Given the description of an element on the screen output the (x, y) to click on. 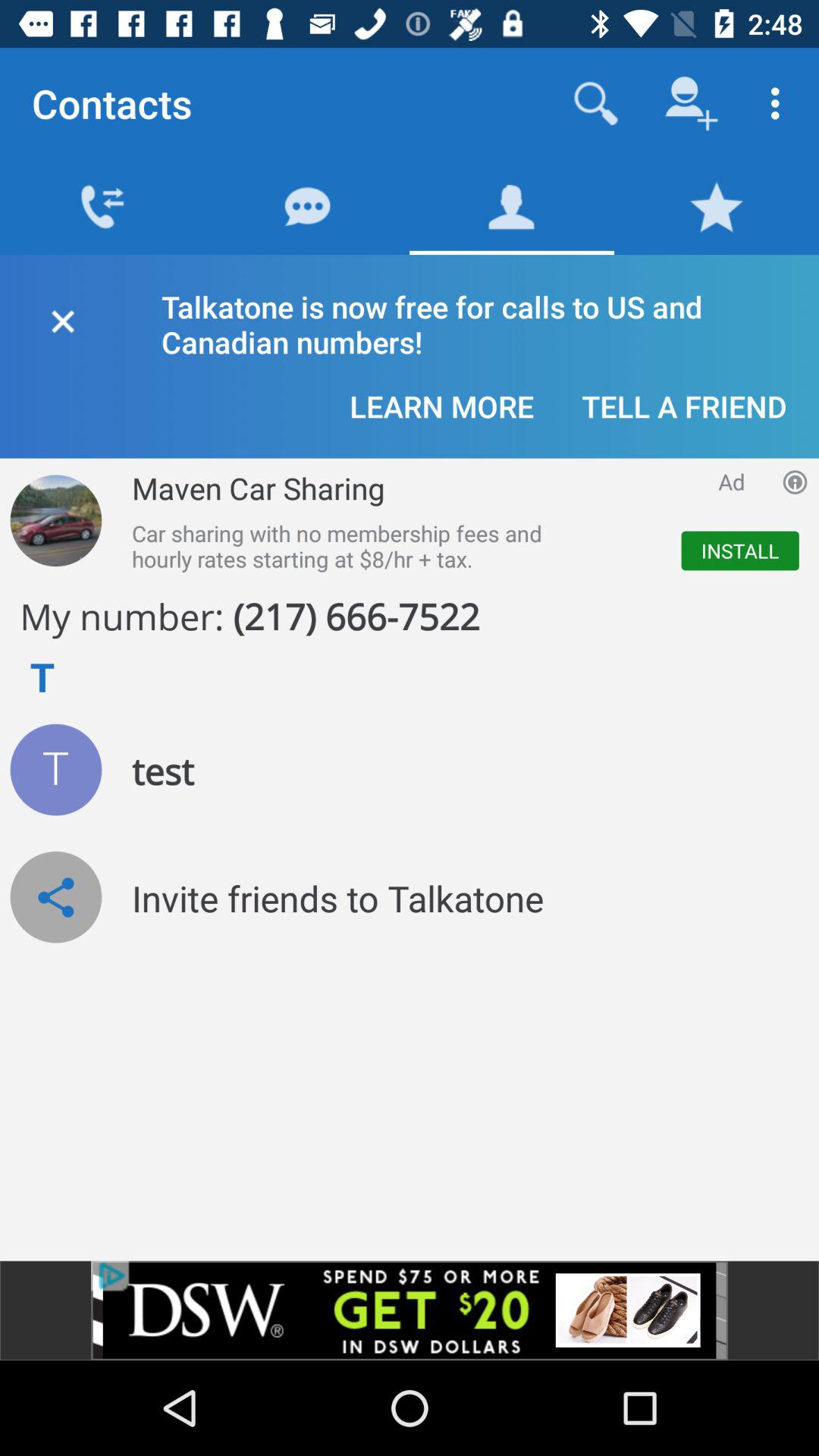
show profile page (55, 769)
